Given the description of an element on the screen output the (x, y) to click on. 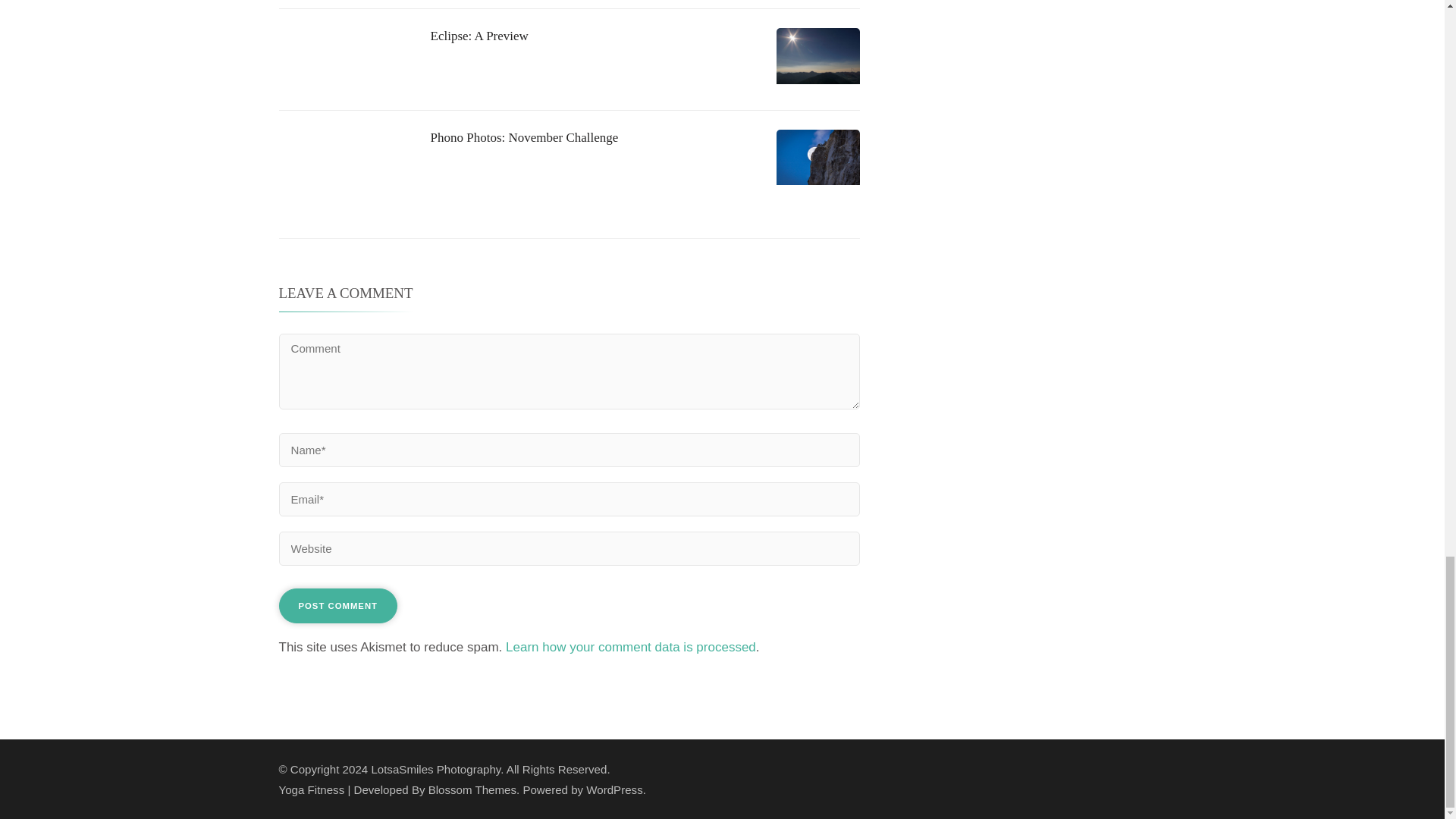
Post Comment (338, 605)
